Given the description of an element on the screen output the (x, y) to click on. 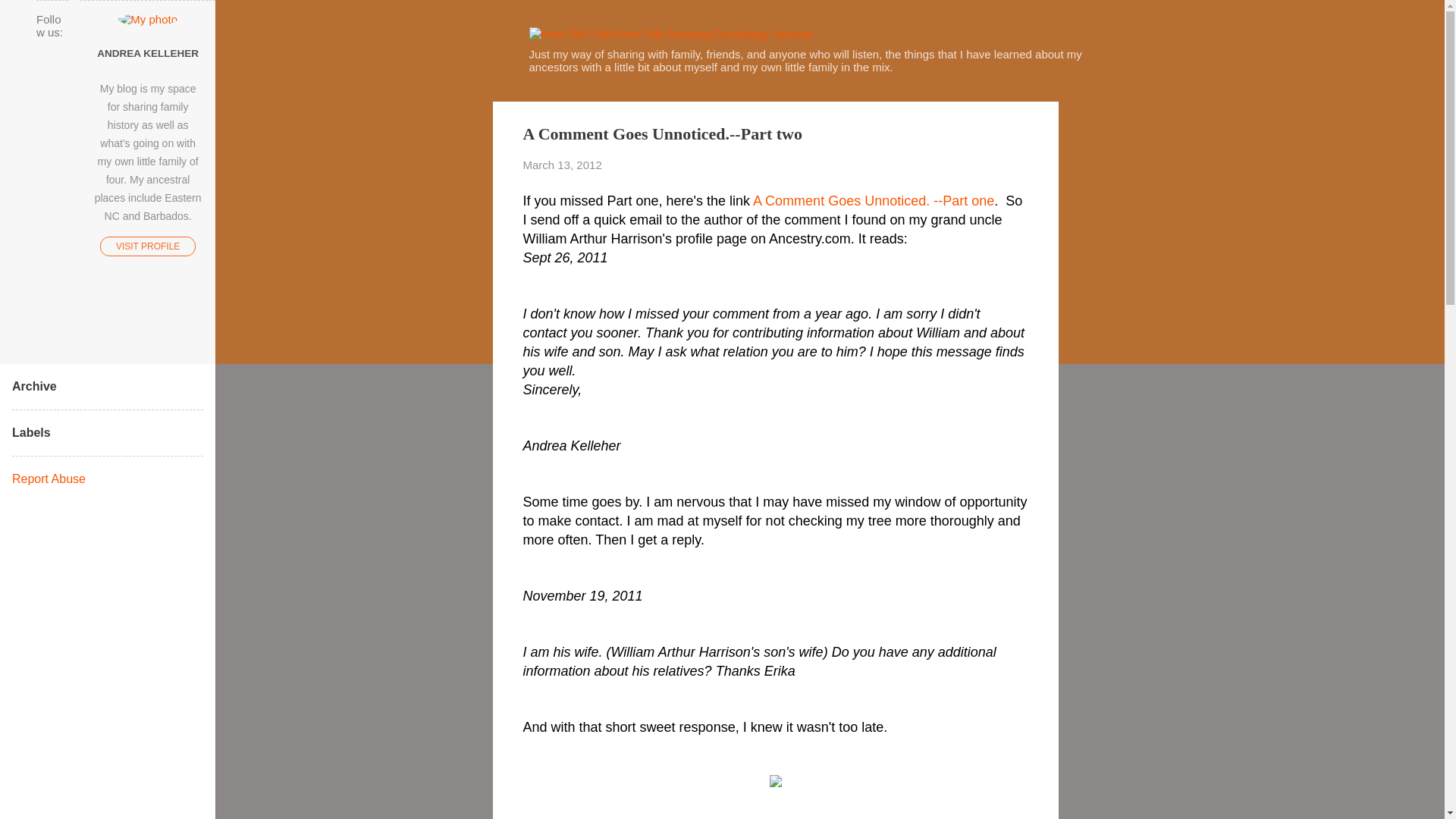
Advertisement (1118, 328)
March 13, 2012 (562, 164)
A Comment Goes Unnoticed. --Part one (873, 200)
permanent link (562, 164)
Search (29, 18)
Advertisement (1118, 693)
